Given the description of an element on the screen output the (x, y) to click on. 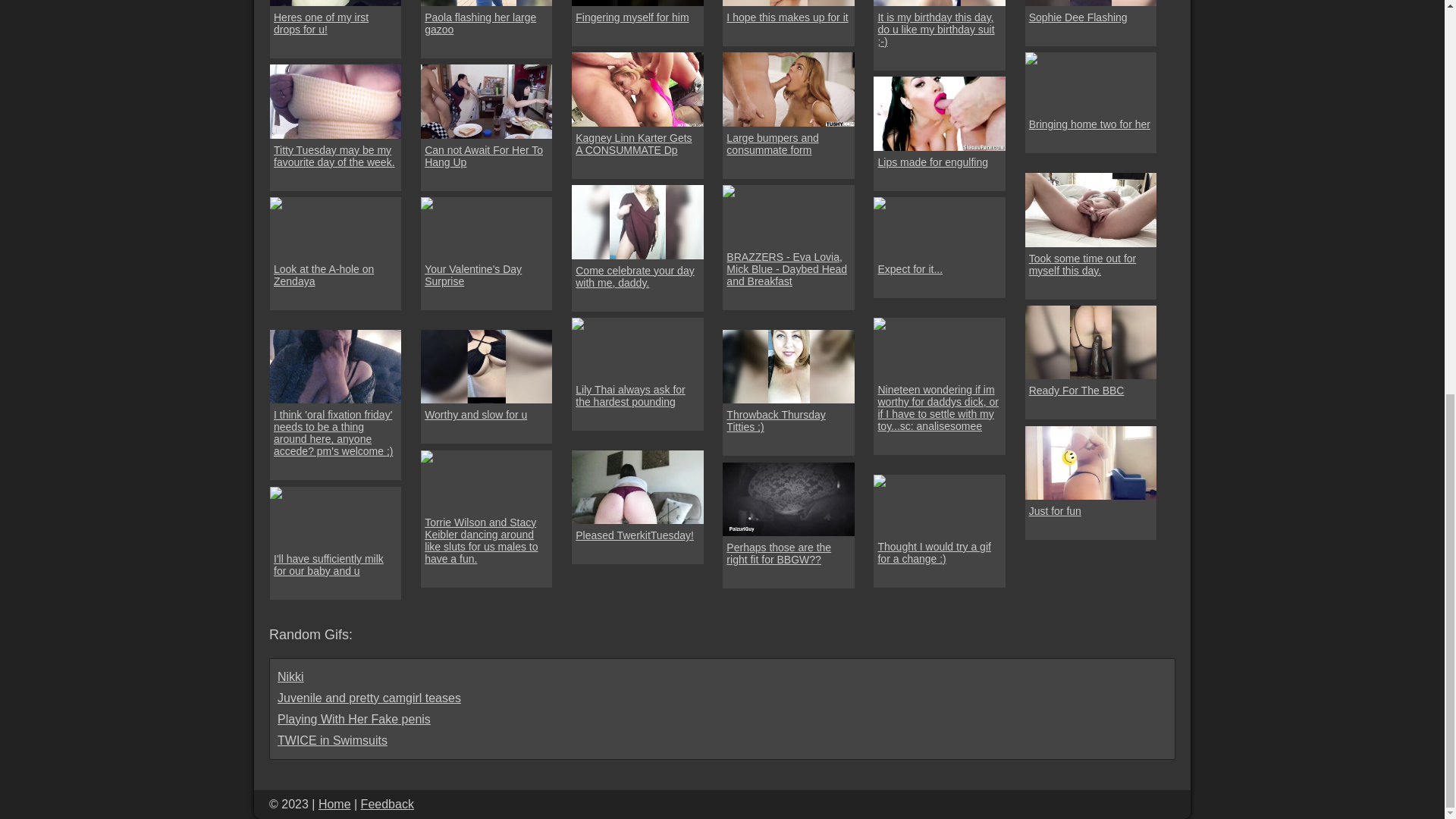
Can not Await For Her To Hang Up (486, 156)
Fingering myself for him (631, 17)
Heres one of my irst drops for u! (335, 23)
I hope this makes up for it  (786, 17)
Fingering myself for him (631, 17)
Paola flashing her large gazoo (485, 2)
Took some time out for myself this day. (1091, 263)
Heres one of my irst drops for u! (335, 2)
Large bumpers and consummate form (788, 143)
Paola flashing her large gazoo (486, 23)
